Given the description of an element on the screen output the (x, y) to click on. 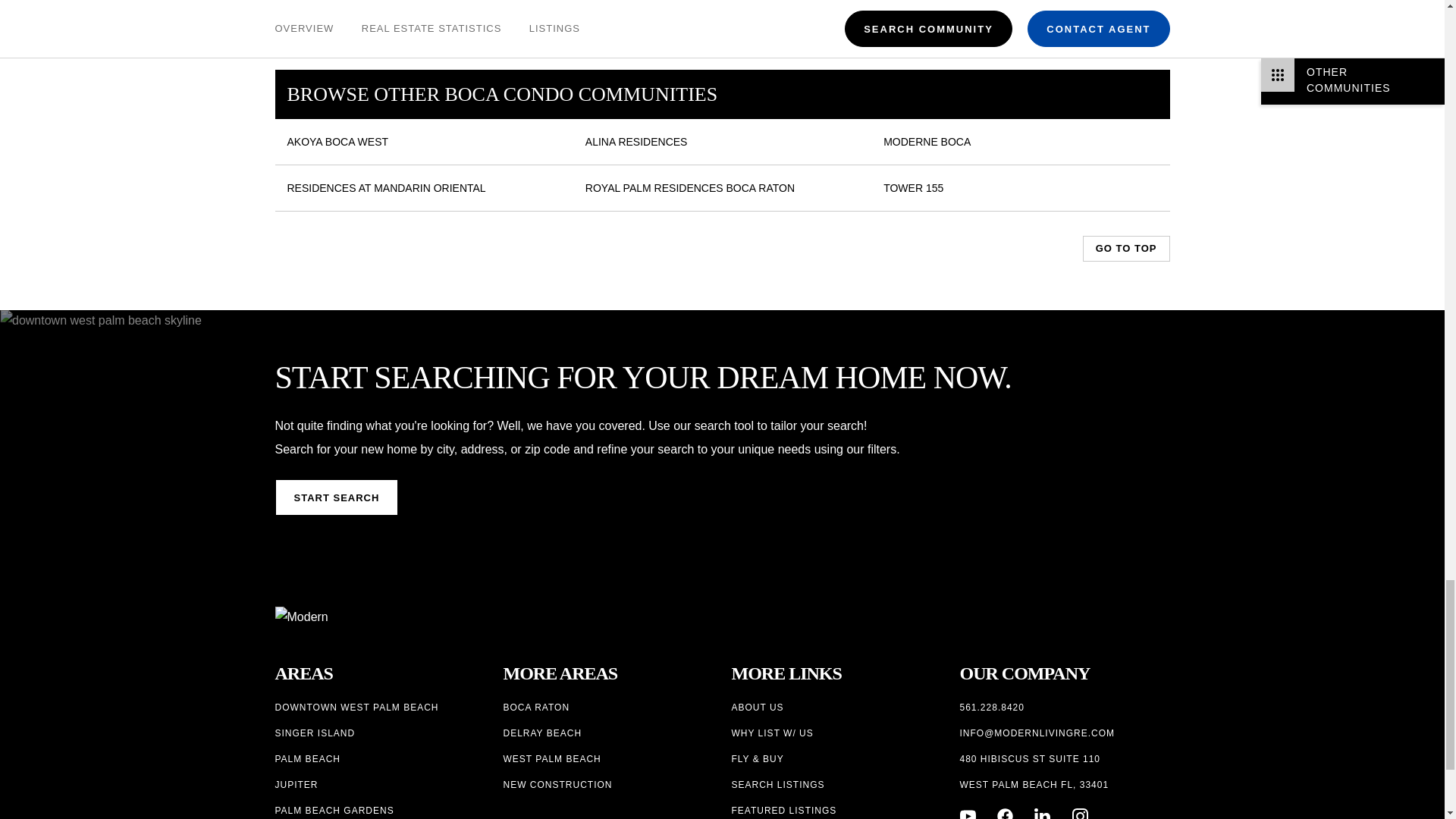
FACEBOOK (1005, 813)
LINKEDIN (1041, 813)
YOUTUBE (967, 813)
